Given the description of an element on the screen output the (x, y) to click on. 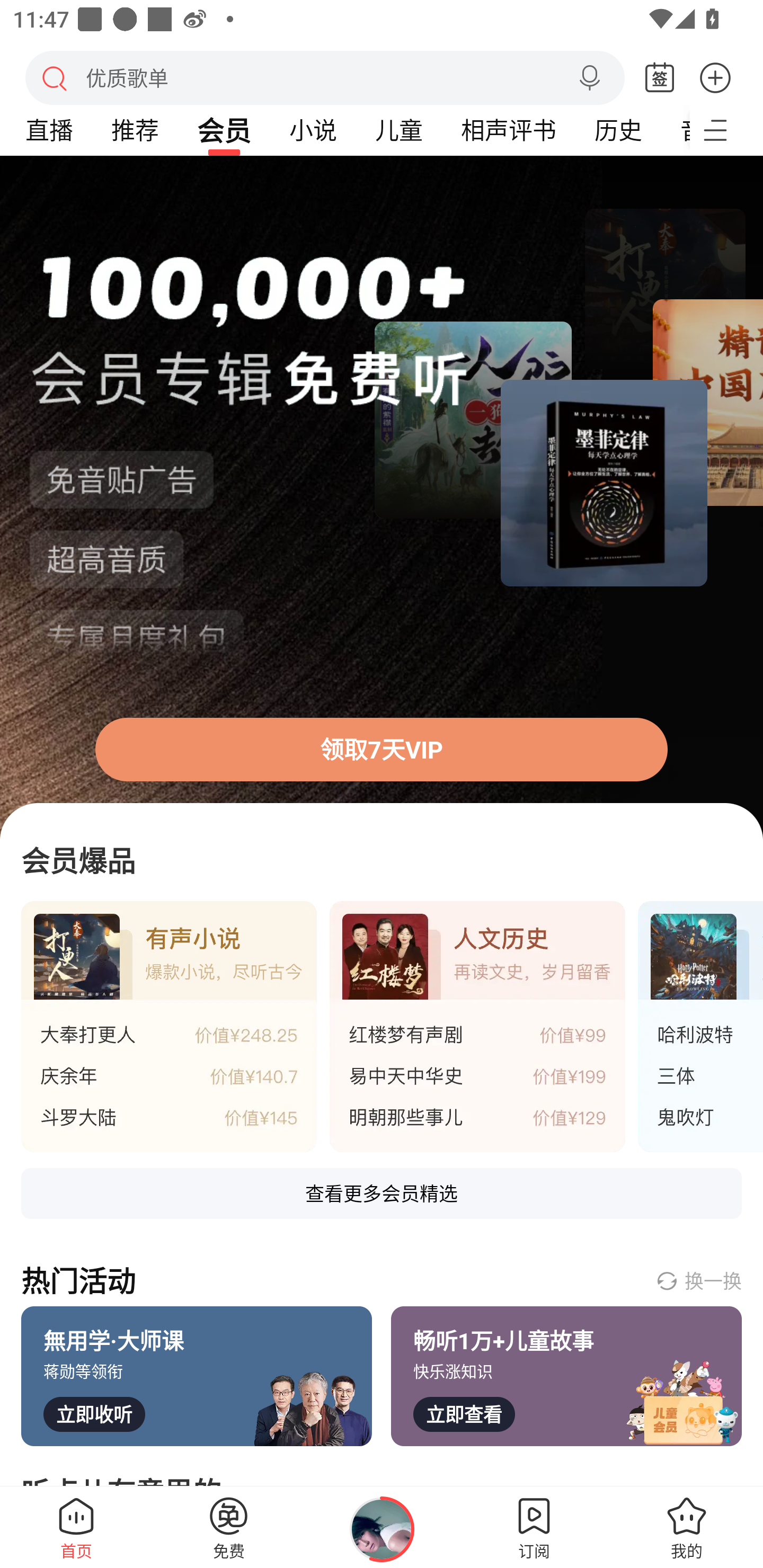
搜索 优质歌单 语音搜索 (324, 77)
更多 (714, 77)
签到 (659, 78)
语音搜索 (589, 78)
直播 (49, 130)
推荐 (134, 130)
会员 (223, 130)
小说 (313, 130)
儿童 (398, 130)
相声评书 (508, 130)
历史 (618, 130)
更多频道 (726, 130)
领取7天VIP (381, 497)
领取7天VIP (381, 749)
查看更多会员精选 (381, 1193)
换一换 (698, 1279)
無用学·大师课 蒋勋等领衔 立即收听 (196, 1375)
畅听1万+儿童故事 快乐涨知识 立即查看 (565, 1375)
首页 (76, 1526)
免费 (228, 1526)
订阅 (533, 1526)
我的 (686, 1526)
正在播放Alpha-橘子海OrangeOcean，点击后打开播放页 (381, 1529)
